Given the description of an element on the screen output the (x, y) to click on. 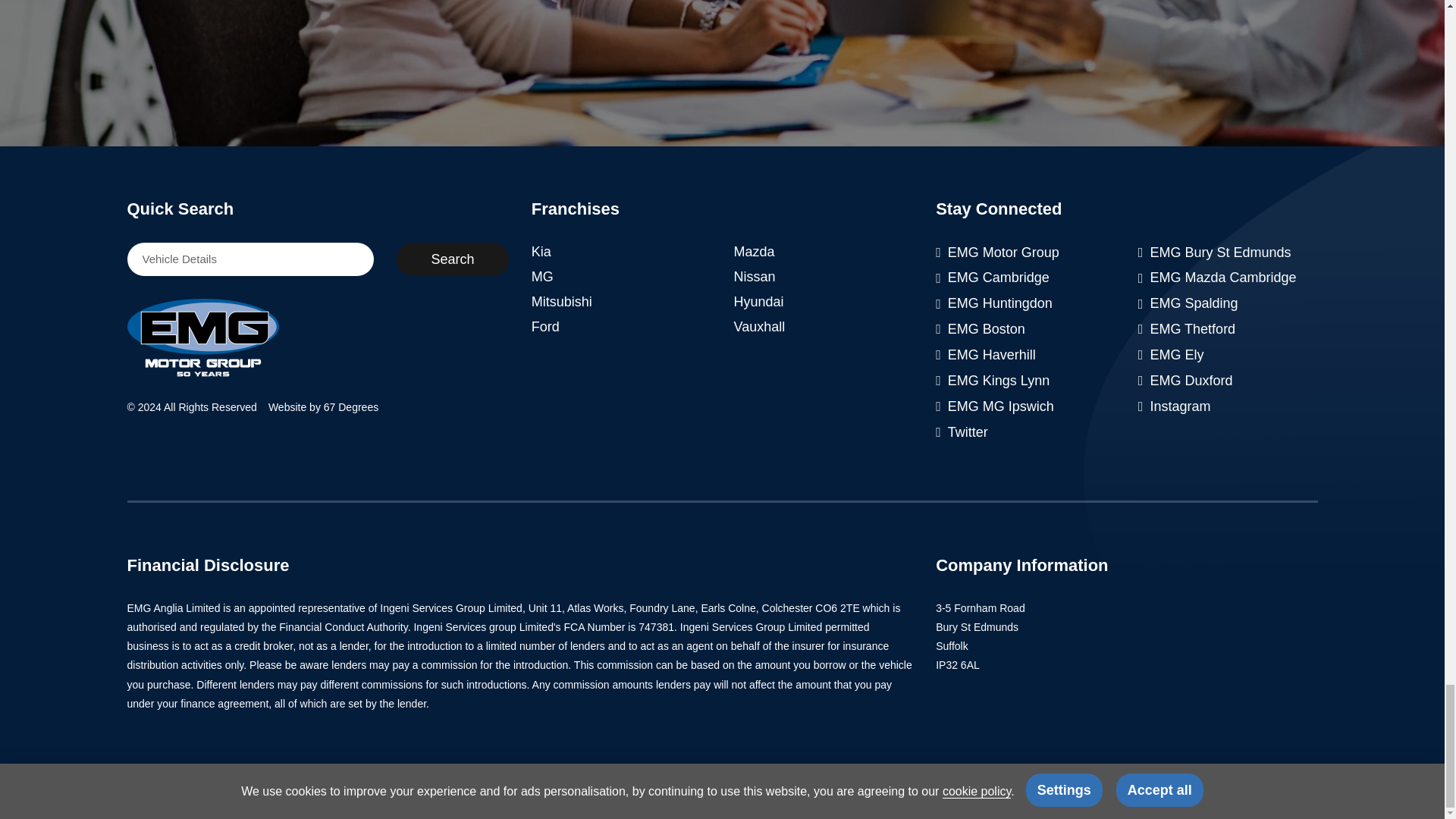
67 Degrees (350, 407)
